Given the description of an element on the screen output the (x, y) to click on. 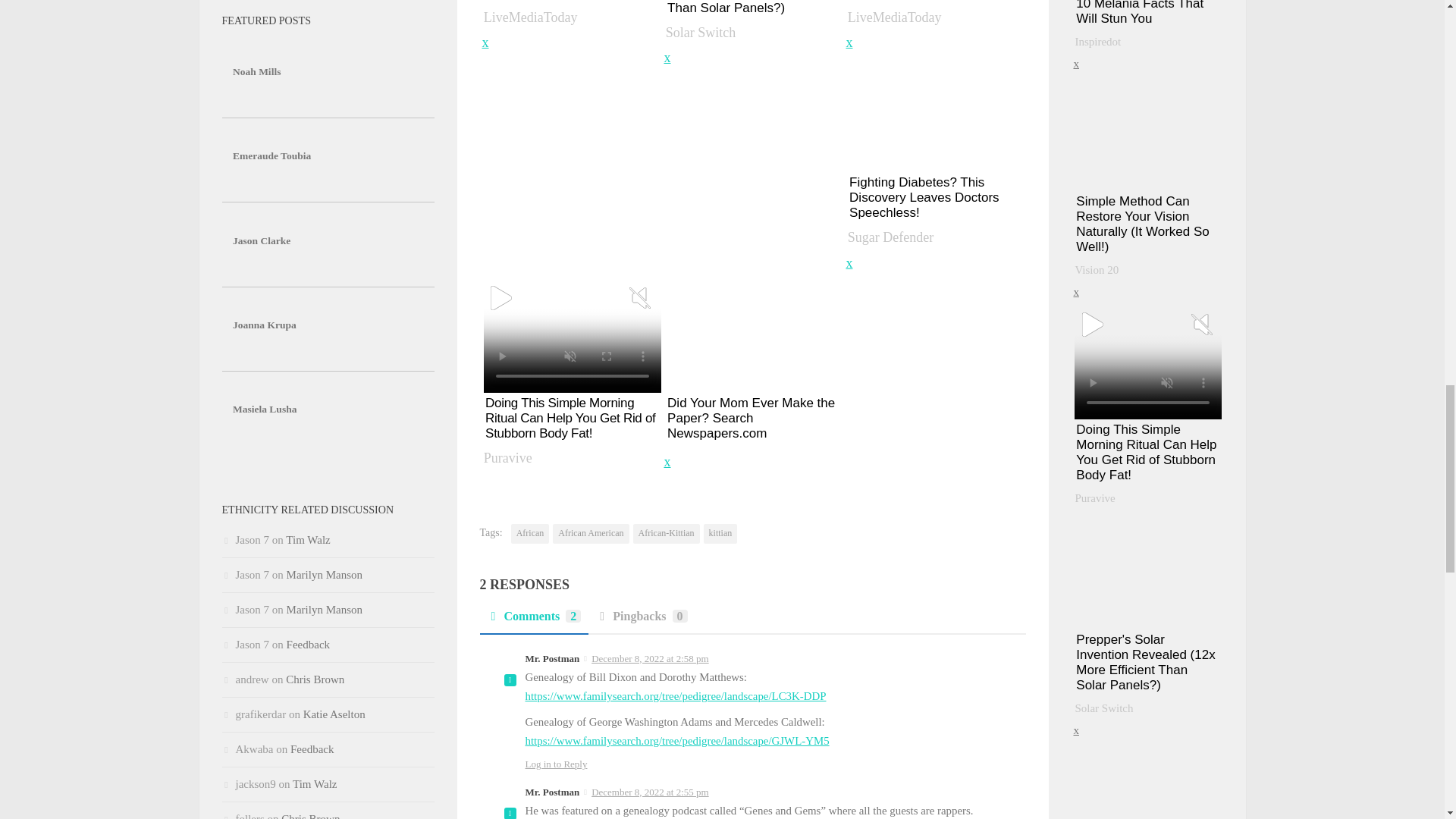
Top 50 Amazing Beaches in the World (570, 16)
